Given the description of an element on the screen output the (x, y) to click on. 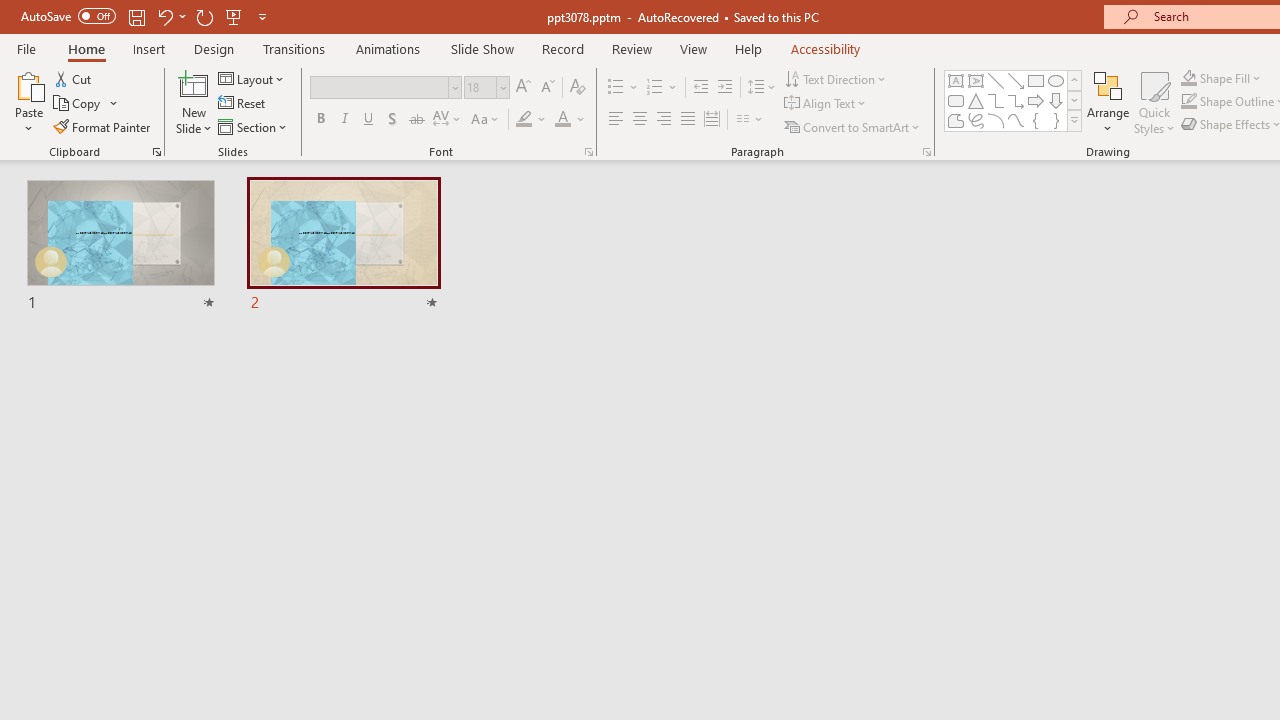
Font (379, 87)
Class: NetUIImage (1075, 120)
Quick Access Toolbar (145, 16)
Undo (170, 15)
Open (502, 87)
Italic (344, 119)
Decrease Font Size (547, 87)
Columns (750, 119)
Change Case (486, 119)
Left Brace (1035, 120)
Font... (588, 151)
Shape Fill Dark Green, Accent 2 (1188, 78)
Align Left (616, 119)
Text Direction (836, 78)
Connector: Elbow (995, 100)
